Given the description of an element on the screen output the (x, y) to click on. 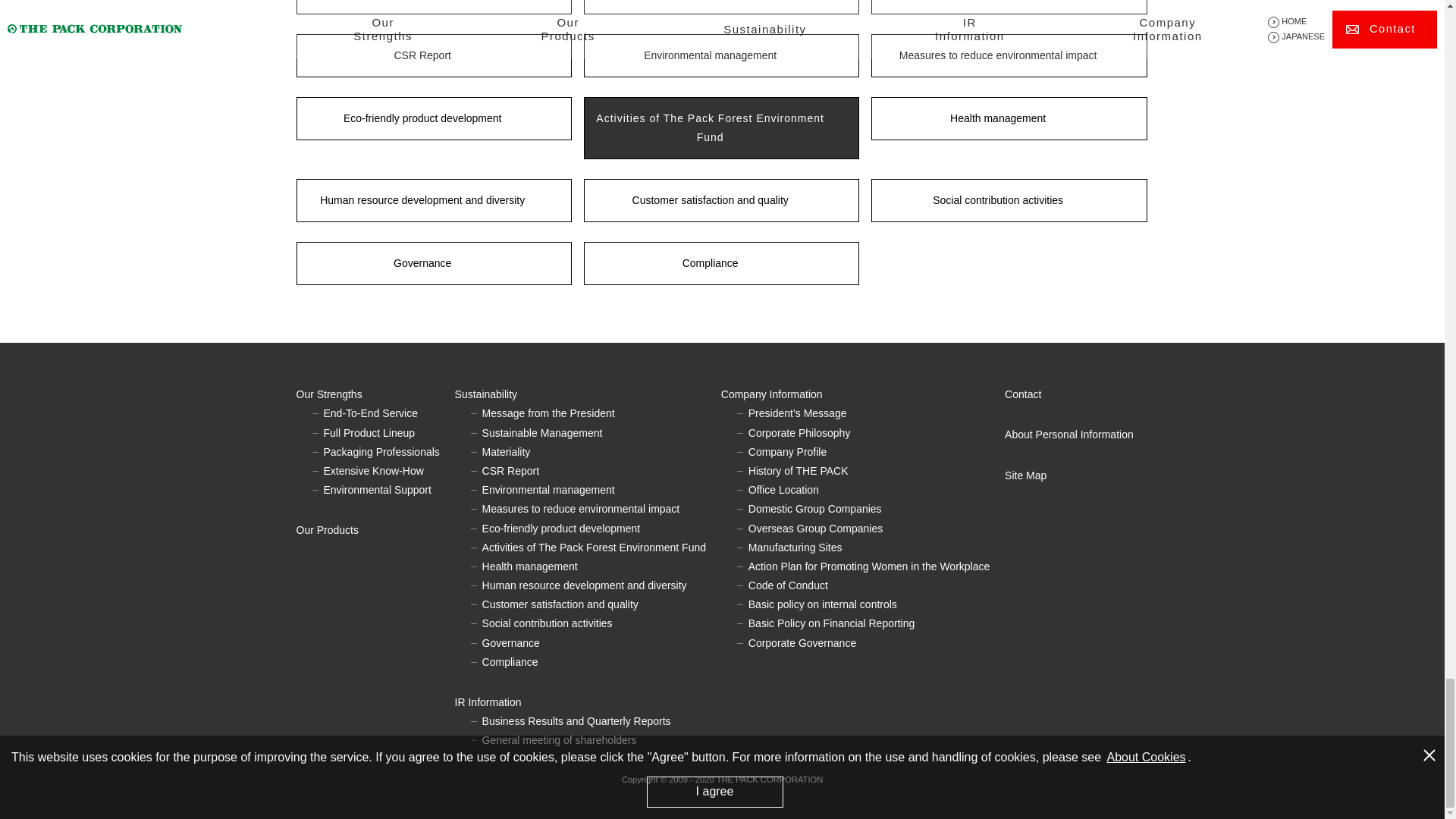
Full Product Lineup (368, 432)
Measures to reduce environmental impact (1008, 55)
Eco-friendly product development (432, 118)
Environmental management (721, 55)
Social contribution activities (1008, 200)
Sustainable Management (721, 7)
Customer satisfaction and quality (721, 200)
Human resource development and diversity (432, 200)
Governance (432, 263)
Health management (1008, 118)
Message from the President (432, 7)
End-To-End Service (370, 413)
CSR Report (432, 55)
Compliance (721, 263)
Our Strengths (374, 394)
